Given the description of an element on the screen output the (x, y) to click on. 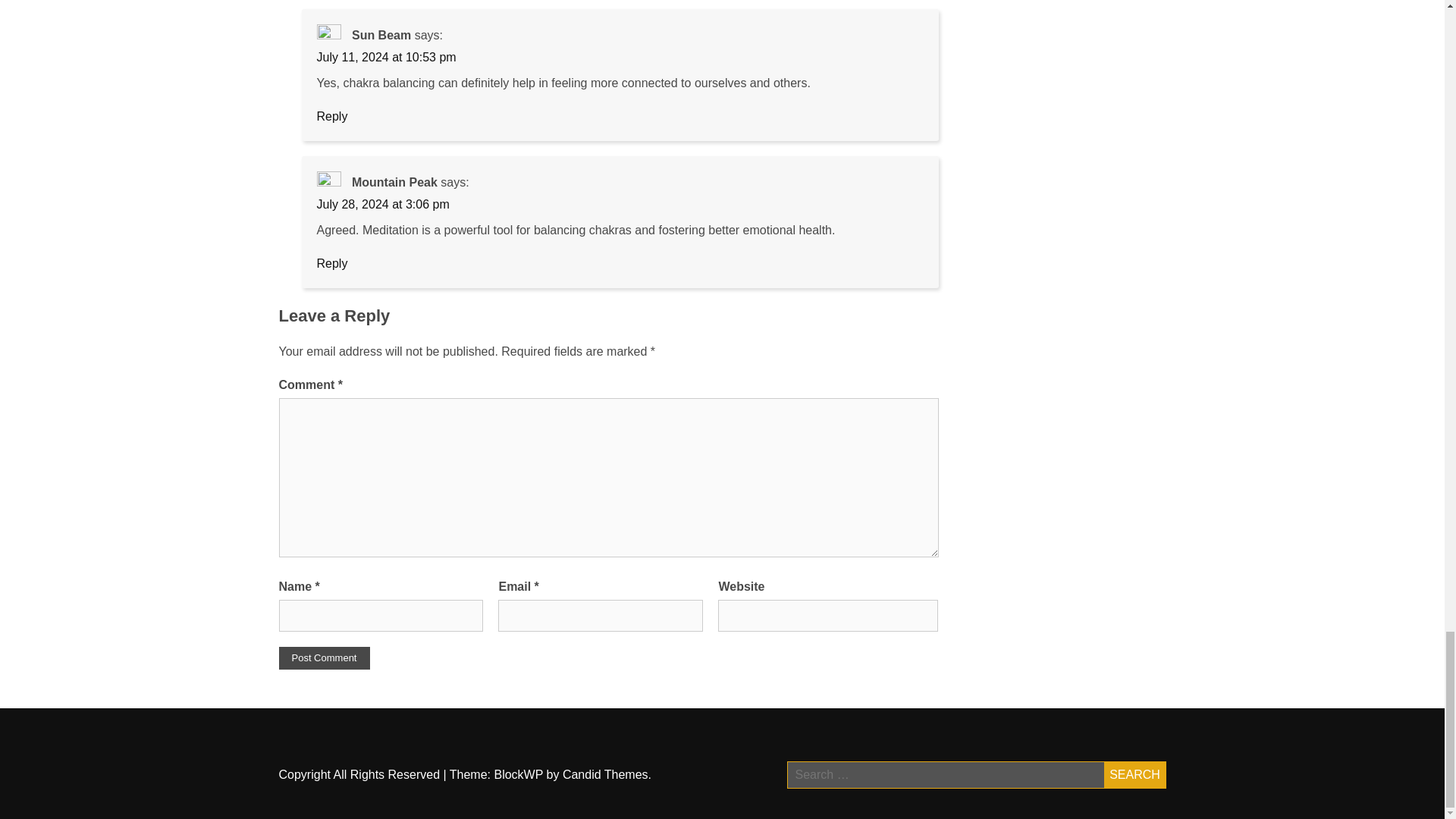
Post Comment (324, 658)
Search (1134, 774)
Search (1134, 774)
